Given the description of an element on the screen output the (x, y) to click on. 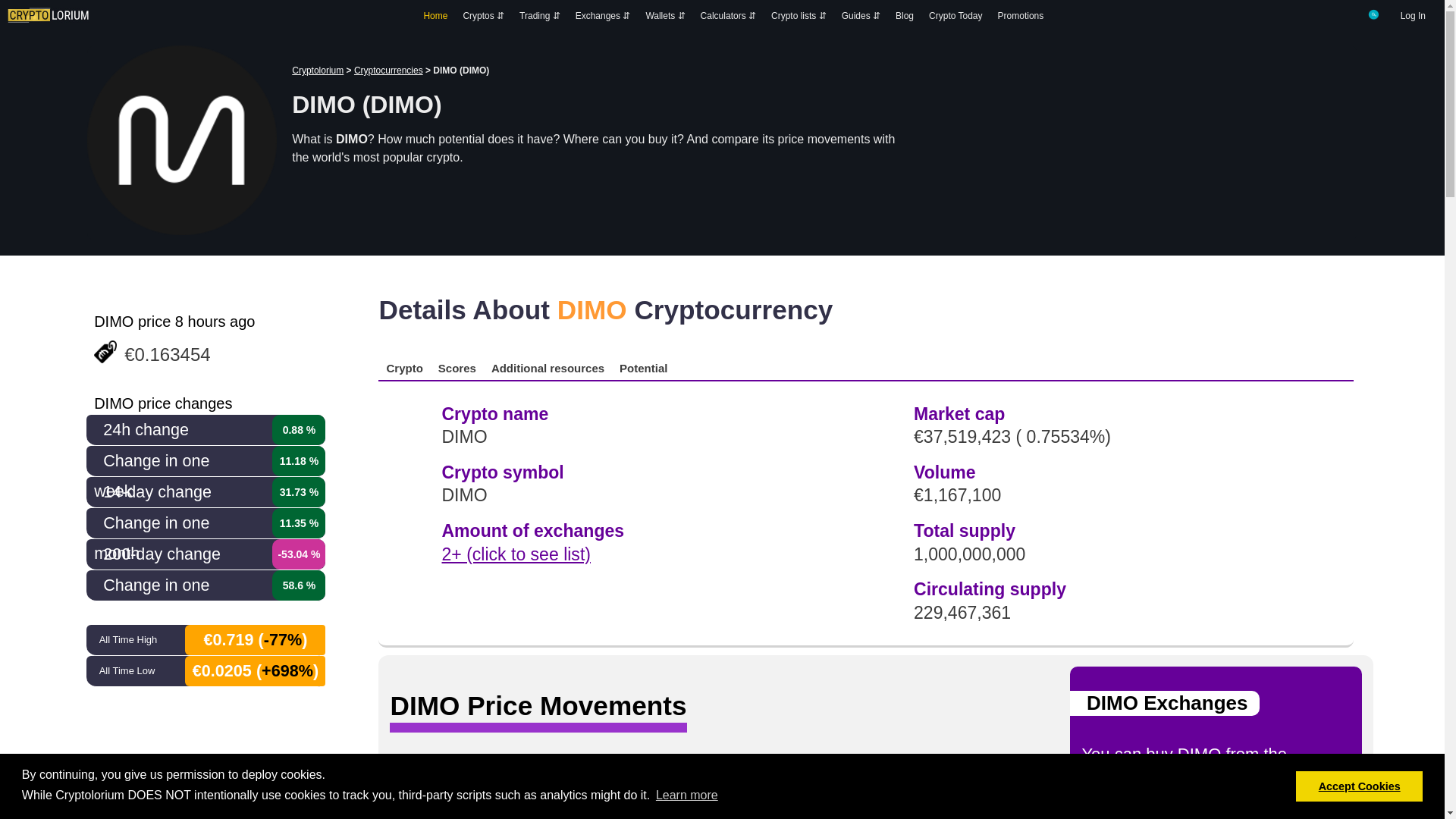
Accept Cookies (1358, 786)
DIMO logo (181, 140)
Home (434, 15)
Log In (1412, 15)
Learn more (686, 794)
Search (1374, 17)
Search (1374, 14)
Cryptolorium (47, 14)
